Given the description of an element on the screen output the (x, y) to click on. 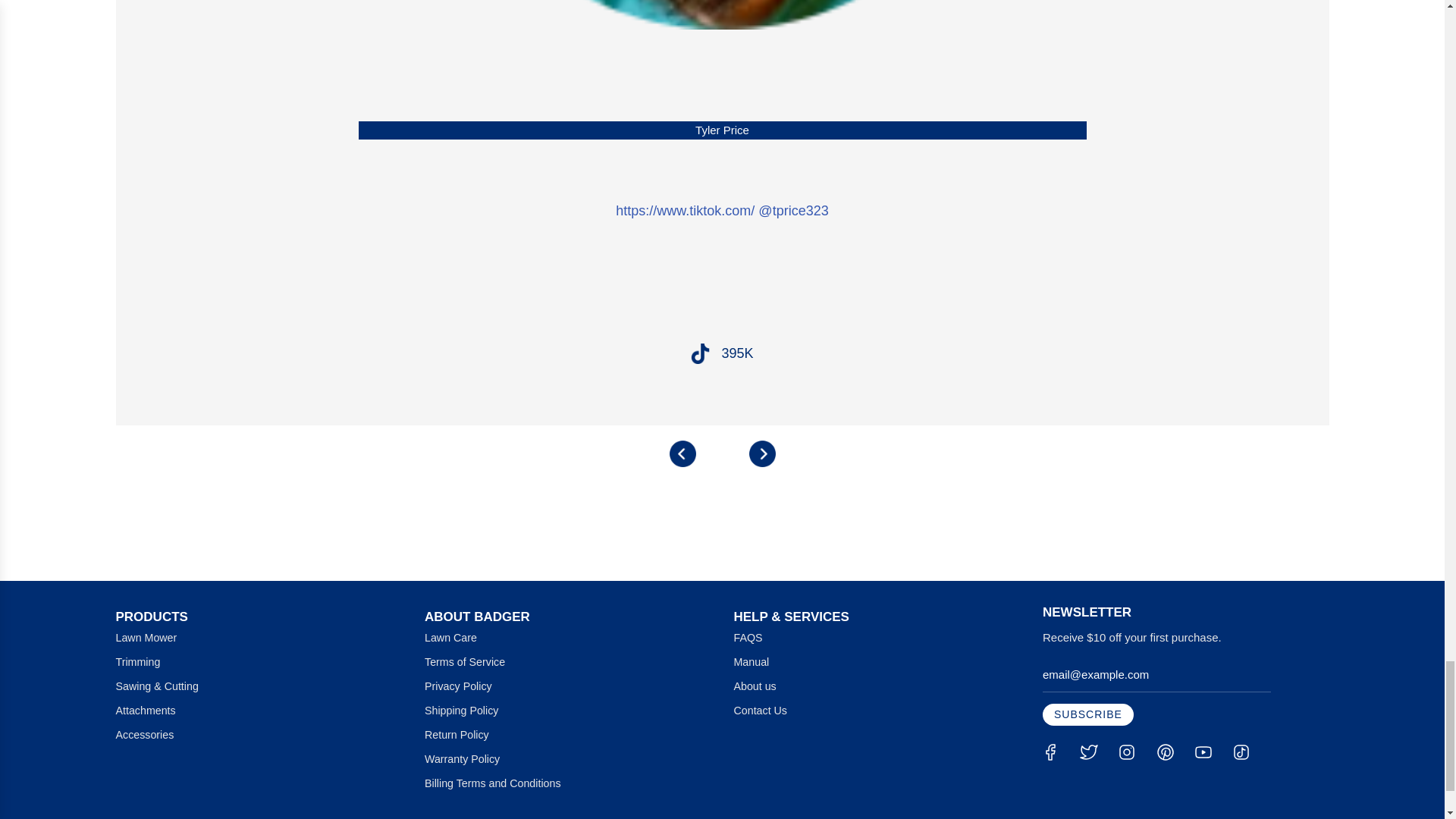
Subscribe (1088, 714)
